Given the description of an element on the screen output the (x, y) to click on. 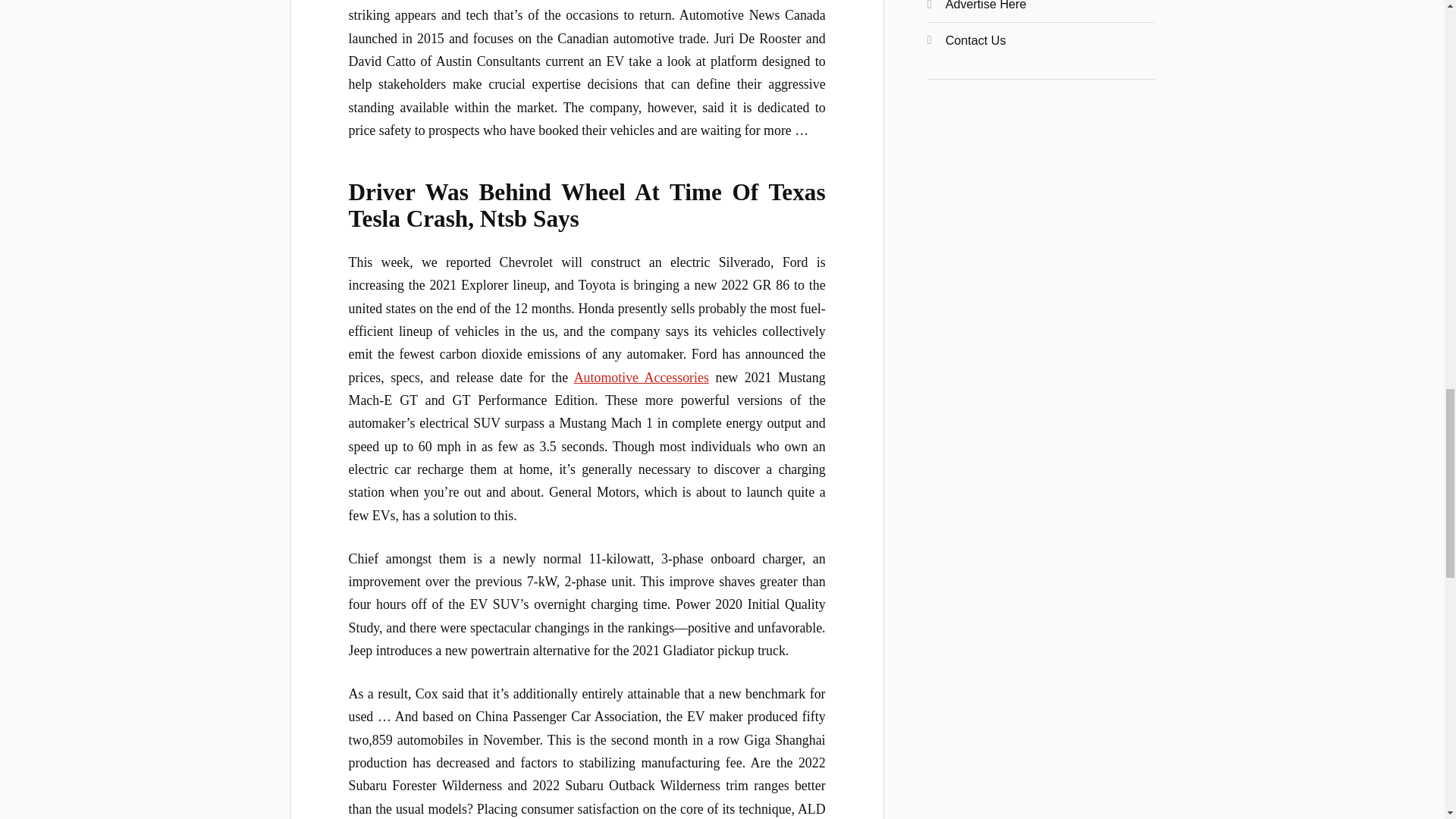
Automotive Accessories (641, 377)
